Given the description of an element on the screen output the (x, y) to click on. 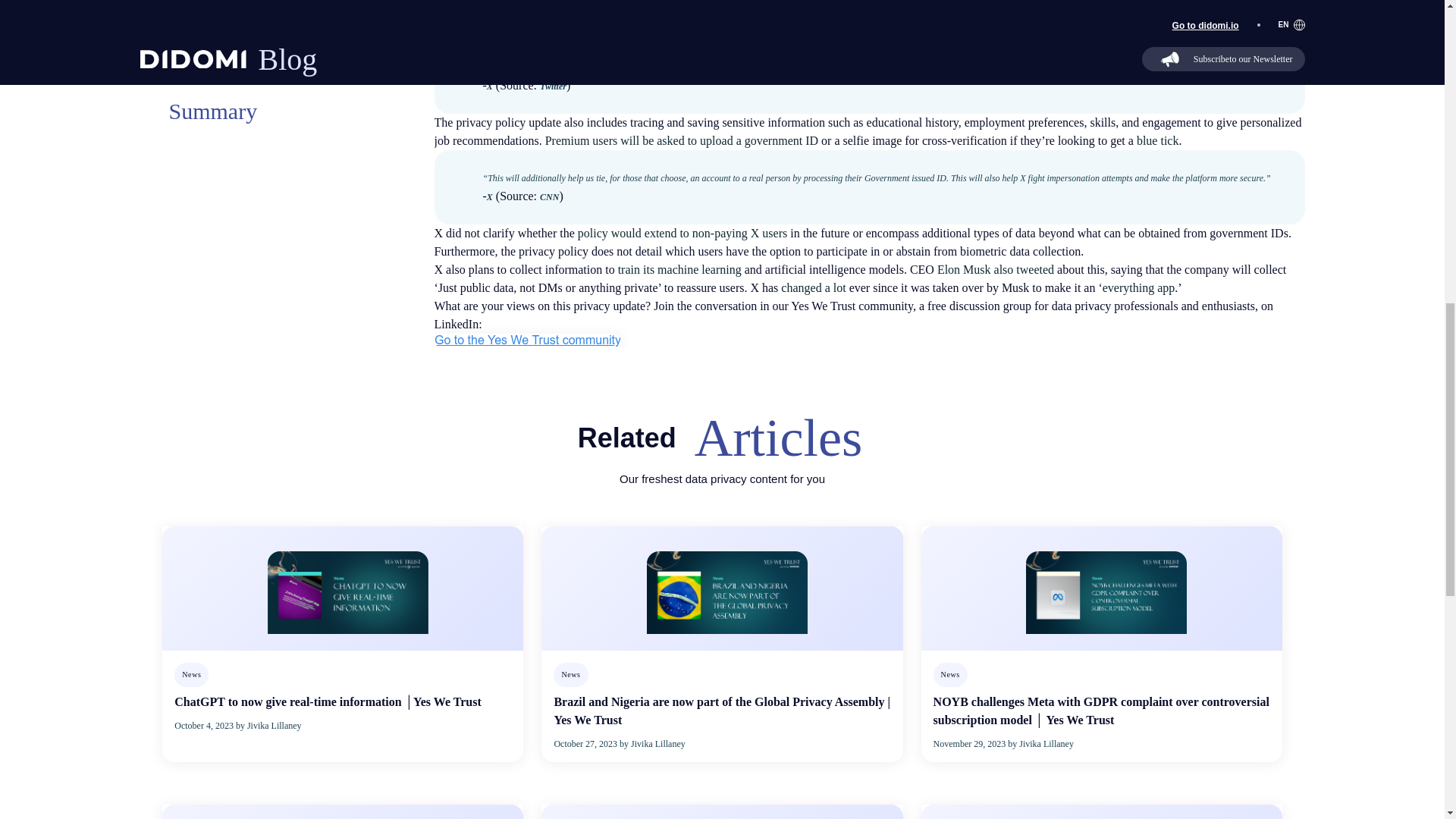
policy would extend to non-paying X users (682, 232)
Premium users will be asked to upload a government ID (681, 140)
changed a lot (812, 287)
Twitter (553, 84)
Elon Musk also tweeted (995, 269)
train its machine learning (680, 269)
CNN (549, 195)
blue tick (1158, 140)
